Given the description of an element on the screen output the (x, y) to click on. 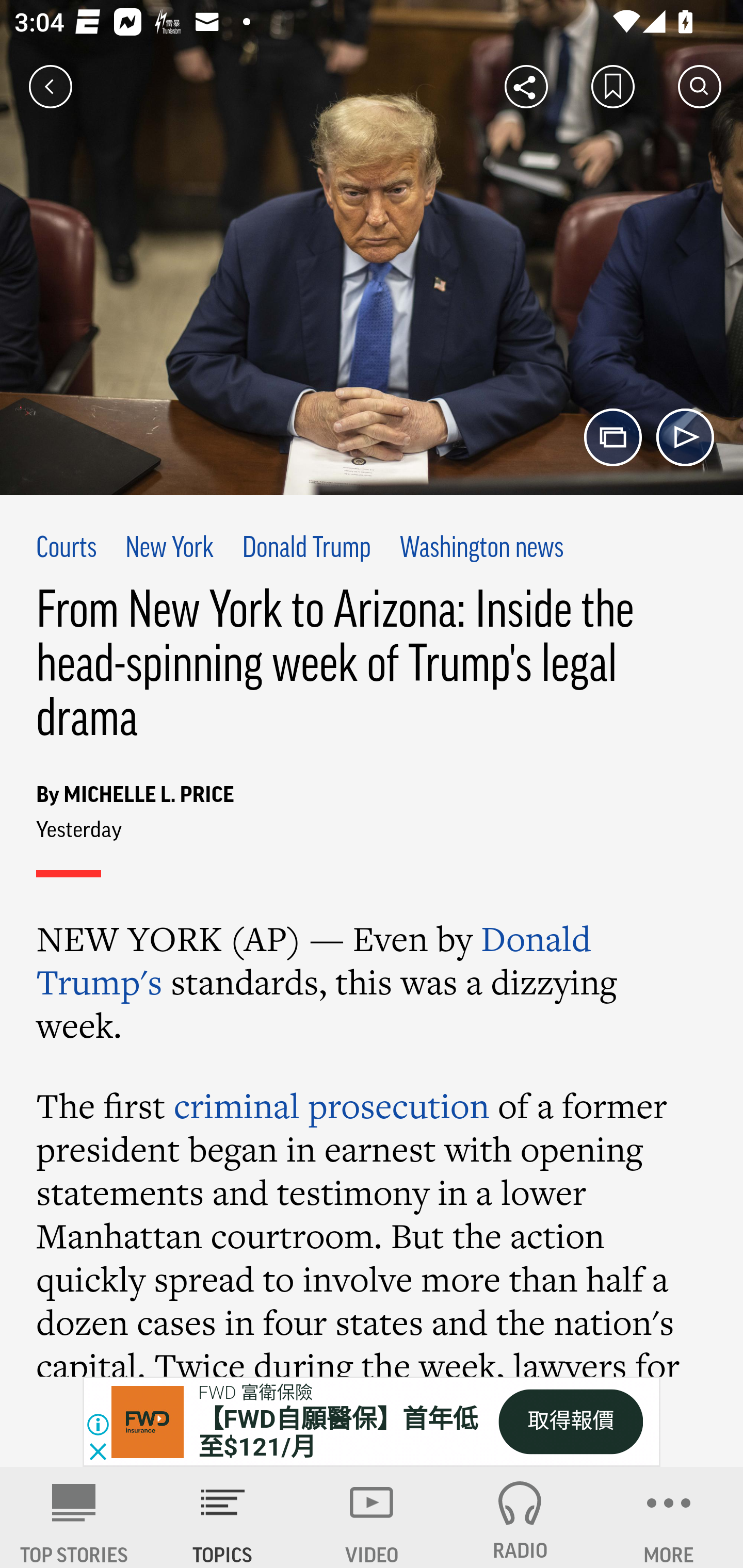
Courts (66, 549)
New York (169, 549)
Donald Trump (307, 549)
Washington news (481, 549)
Donald Trump's (314, 959)
criminal prosecution (332, 1104)
AP News TOP STORIES (74, 1517)
TOPICS (222, 1517)
VIDEO (371, 1517)
RADIO (519, 1517)
MORE (668, 1517)
